Given the description of an element on the screen output the (x, y) to click on. 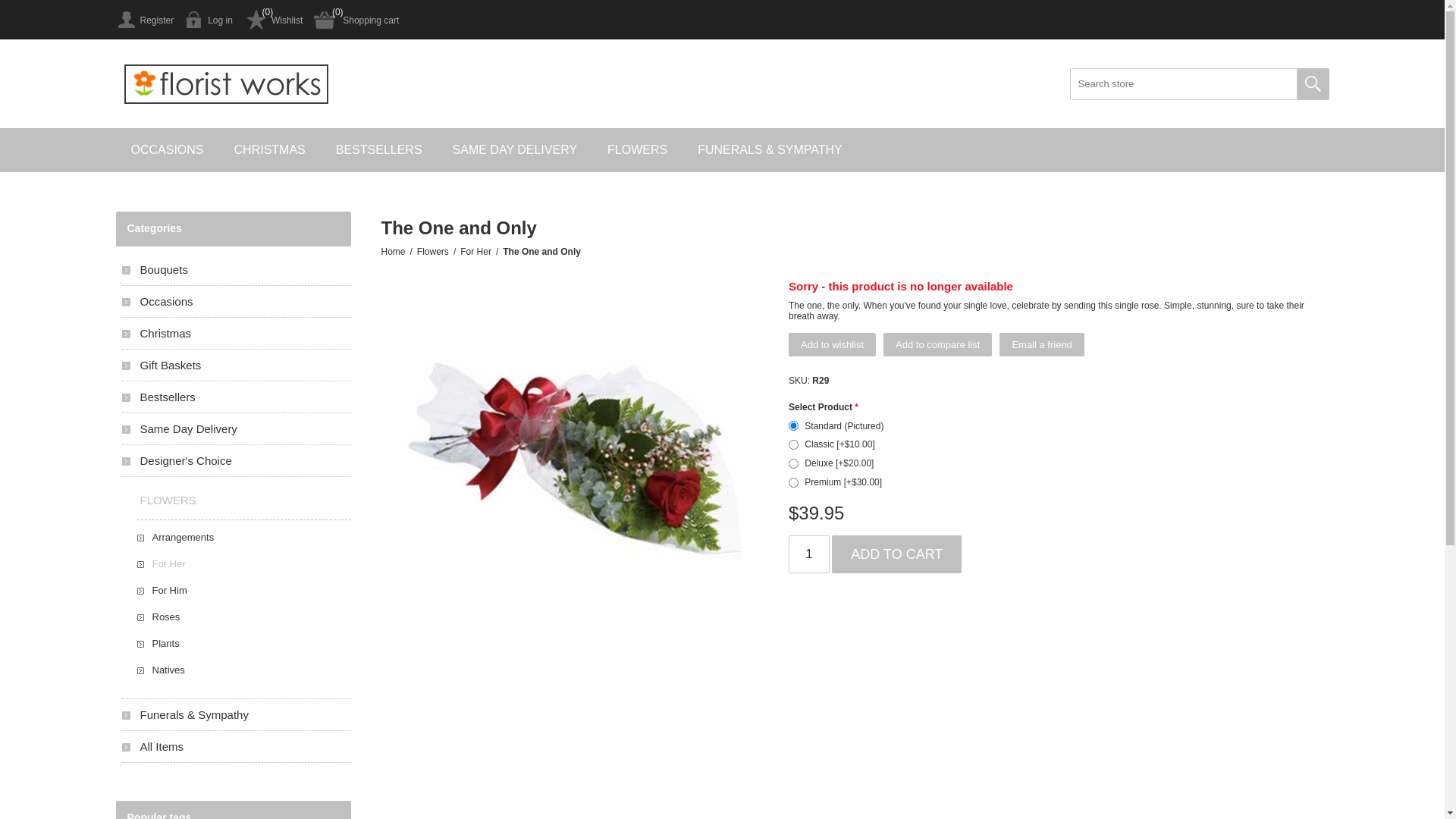
FLOWERS Element type: text (637, 150)
Shopping cart Element type: text (355, 19)
Christmas Element type: text (235, 332)
Flowers Element type: text (432, 251)
Funerals & Sympathy Element type: text (235, 714)
Email a friend Element type: text (1041, 344)
Gift Baskets Element type: text (235, 364)
All Items Element type: text (235, 746)
Picture of The One and Only Element type: hover (570, 429)
Add to compare list Element type: text (937, 344)
Natives Element type: text (243, 669)
SAME DAY DELIVERY Element type: text (515, 150)
Add to wishlist Element type: text (831, 344)
Bouquets Element type: text (235, 269)
Log in Element type: text (208, 19)
BESTSELLERS Element type: text (378, 150)
Add to cart Element type: text (896, 554)
Search Element type: text (1312, 84)
OCCASIONS Element type: text (166, 150)
Plants Element type: text (243, 643)
Register Element type: text (144, 19)
For Her Element type: text (243, 563)
Bestsellers Element type: text (235, 396)
CHRISTMAS Element type: text (269, 150)
For Him Element type: text (243, 590)
Occasions Element type: text (235, 300)
Roses Element type: text (243, 616)
Home Element type: text (392, 251)
Same Day Delivery Element type: text (235, 428)
For Her Element type: text (475, 251)
Arrangements Element type: text (243, 537)
Designer's Choice Element type: text (235, 460)
Wishlist Element type: text (273, 19)
FUNERALS & SYMPATHY Element type: text (769, 150)
FLOWERS Element type: text (235, 499)
